Given the description of an element on the screen output the (x, y) to click on. 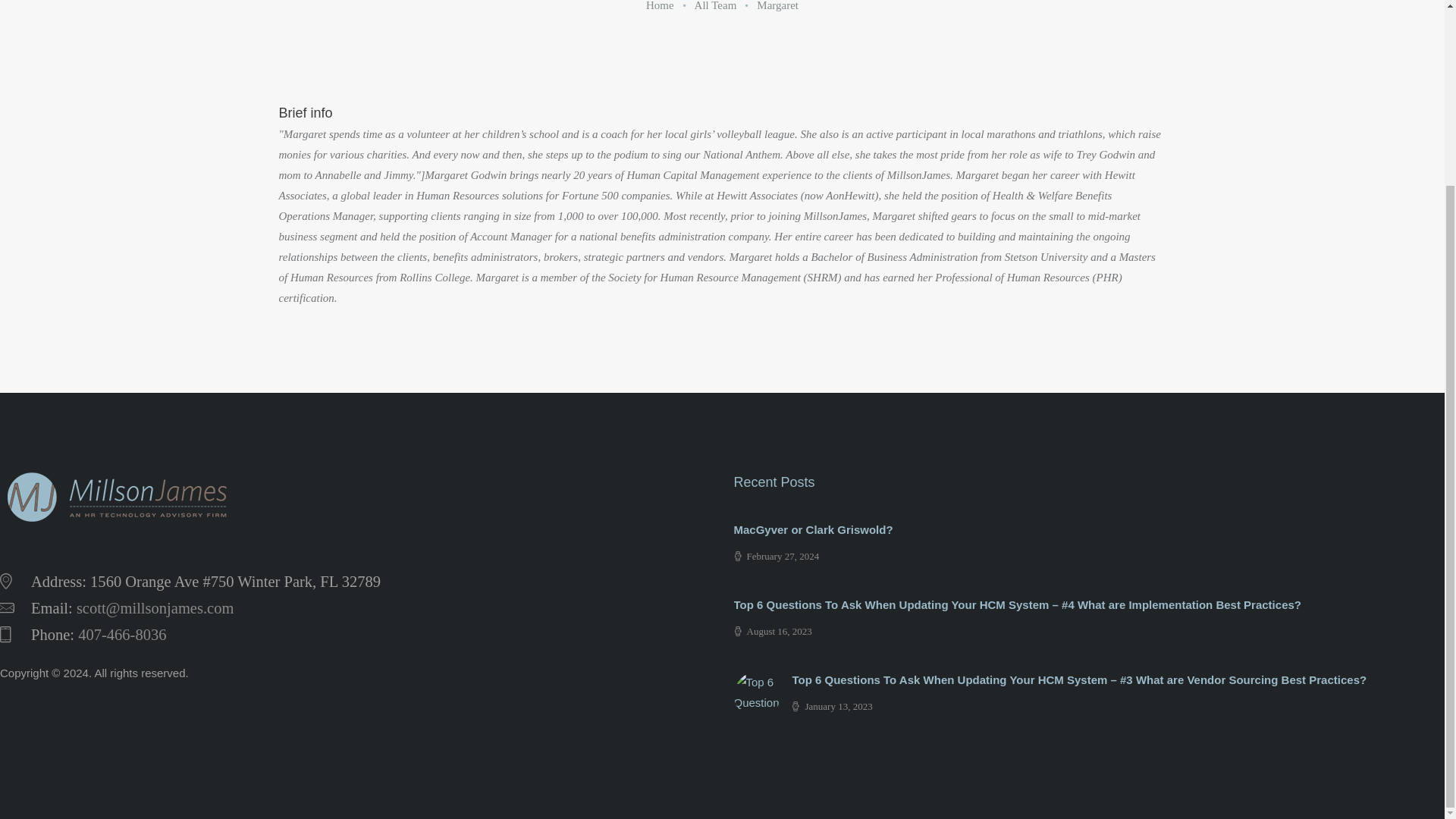
407-466-8036 (121, 634)
August 16, 2023 (772, 631)
February 27, 2024 (776, 555)
January 13, 2023 (832, 706)
Home (660, 6)
All Team (715, 5)
